Given the description of an element on the screen output the (x, y) to click on. 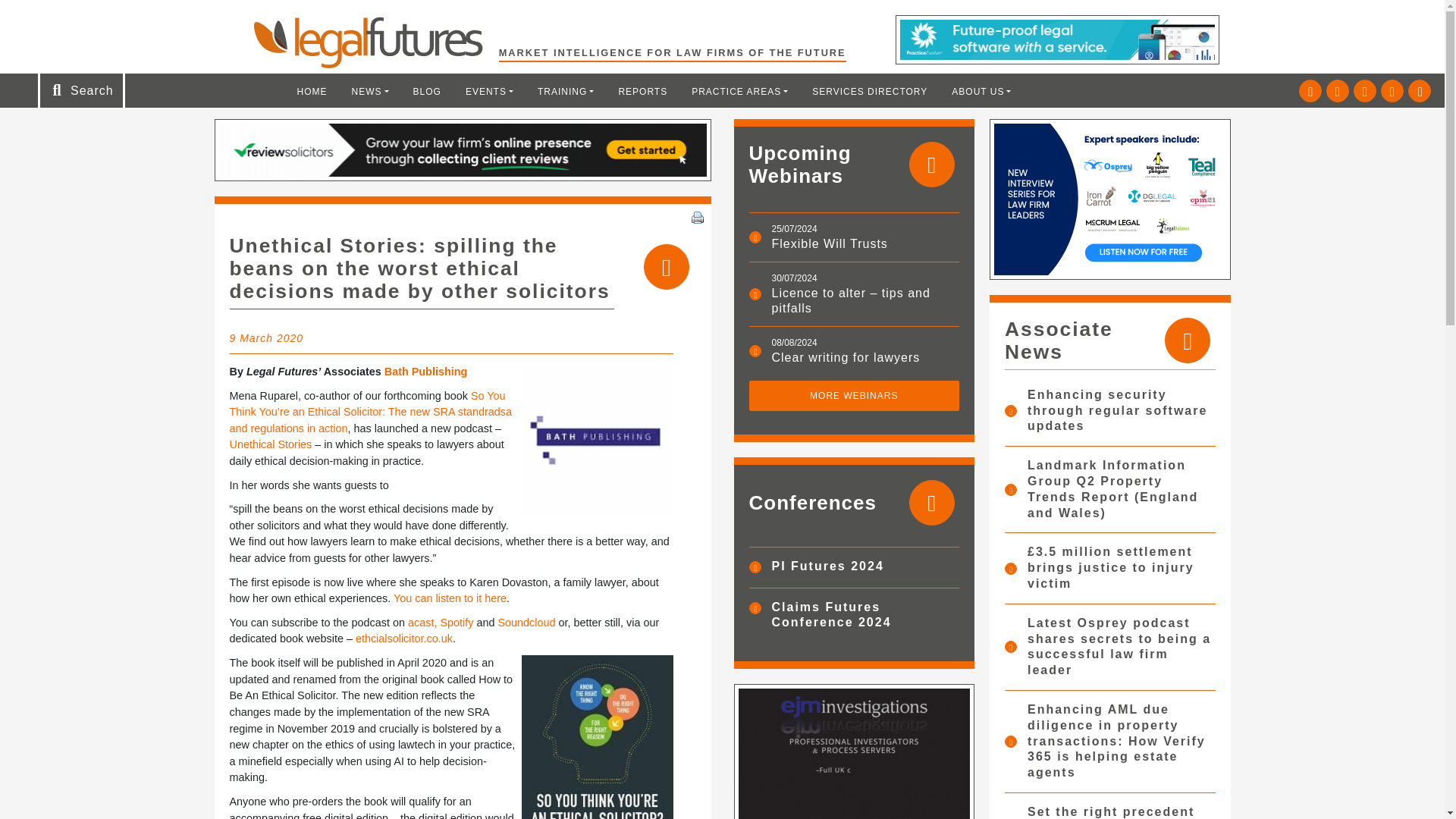
See Legal Futures on Youtube (1391, 90)
Blog (426, 91)
NEWS (370, 91)
See Legal Futures on Rss (1419, 90)
REPORTS (642, 91)
Events (488, 91)
BLOG (426, 91)
PRACTICE AREAS (739, 91)
Search (51, 16)
See Legal Futures on Linkedin-in (1337, 90)
See Legal Futures on Facebook-f (1364, 90)
SERVICES DIRECTORY (869, 91)
training (565, 91)
Home (312, 91)
Legal Futures homepage (375, 42)
